Given the description of an element on the screen output the (x, y) to click on. 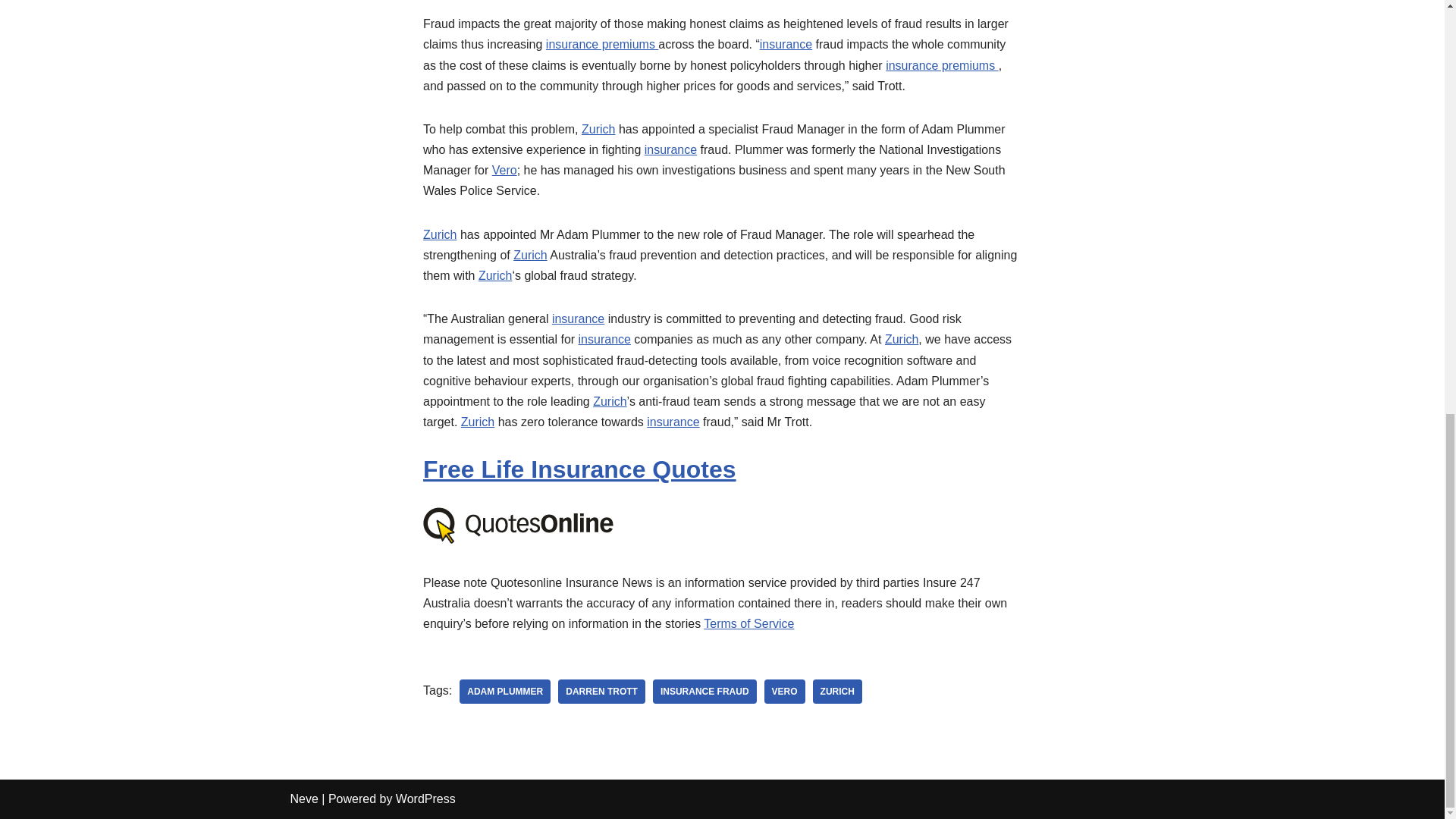
Zurich (597, 128)
Zurich (495, 275)
insurance (577, 318)
Zurich (901, 338)
insurance (786, 43)
Zurich (530, 254)
insurance premiums (602, 43)
Vero (504, 169)
insurance (671, 149)
insurance premiums (941, 64)
